Given the description of an element on the screen output the (x, y) to click on. 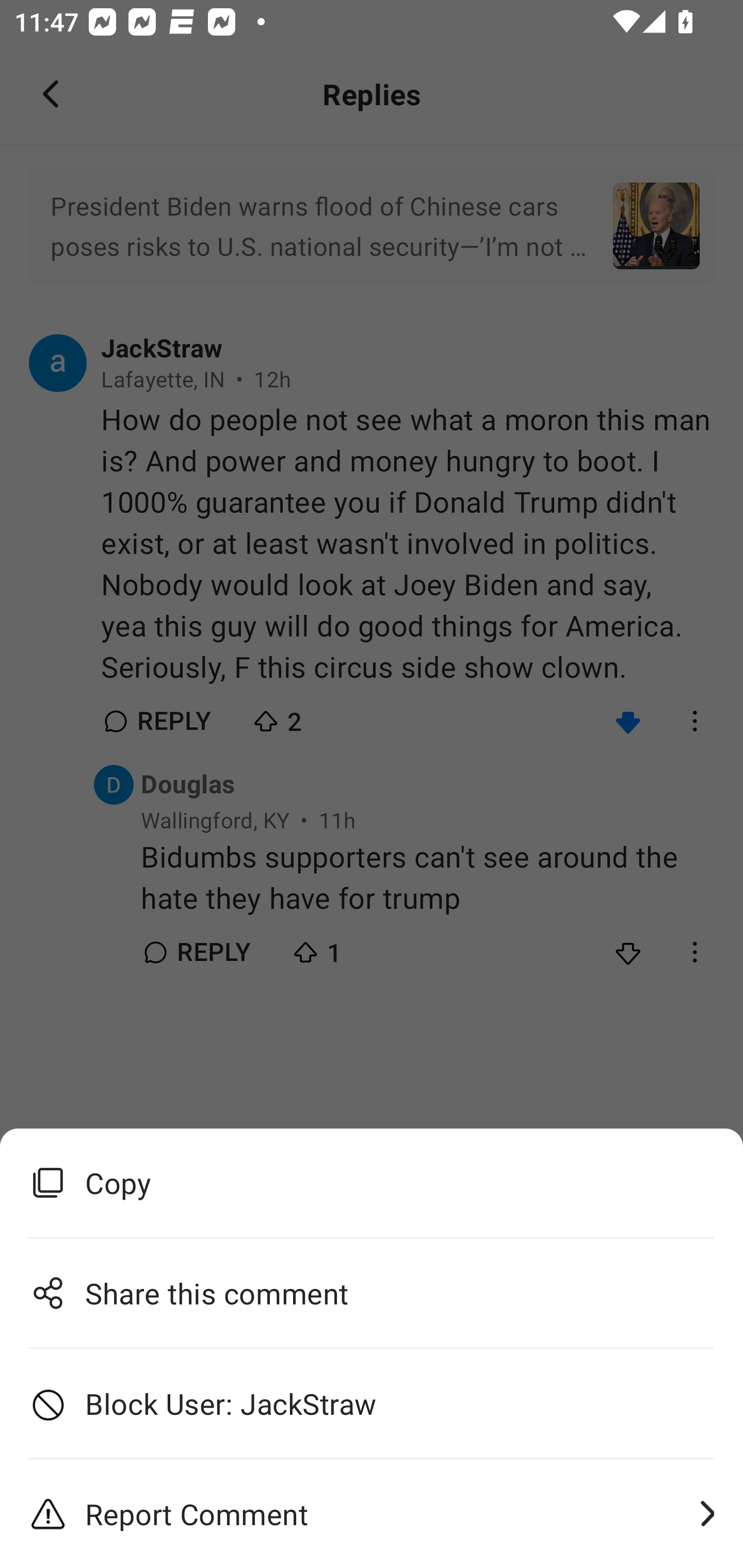
Copy (371, 1182)
Share this comment (371, 1292)
Block User: JackStraw (371, 1404)
Report Comment (371, 1513)
